Given the description of an element on the screen output the (x, y) to click on. 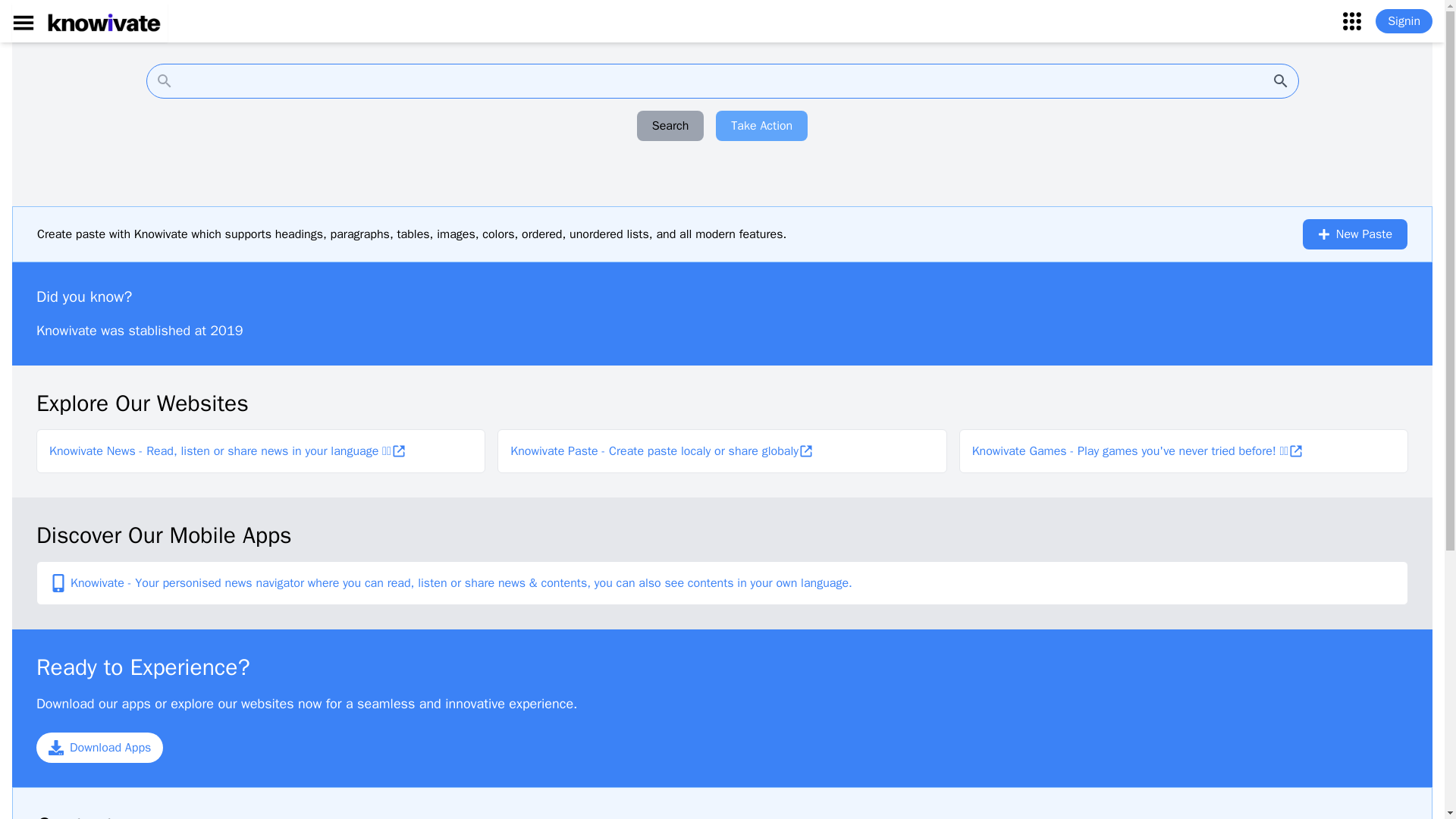
Take Action (762, 125)
Knowivate Paste - Create paste localy or share globaly (654, 451)
New Paste (1355, 234)
Search (670, 125)
Search (721, 80)
Signin (1403, 21)
Download Apps (99, 747)
